Given the description of an element on the screen output the (x, y) to click on. 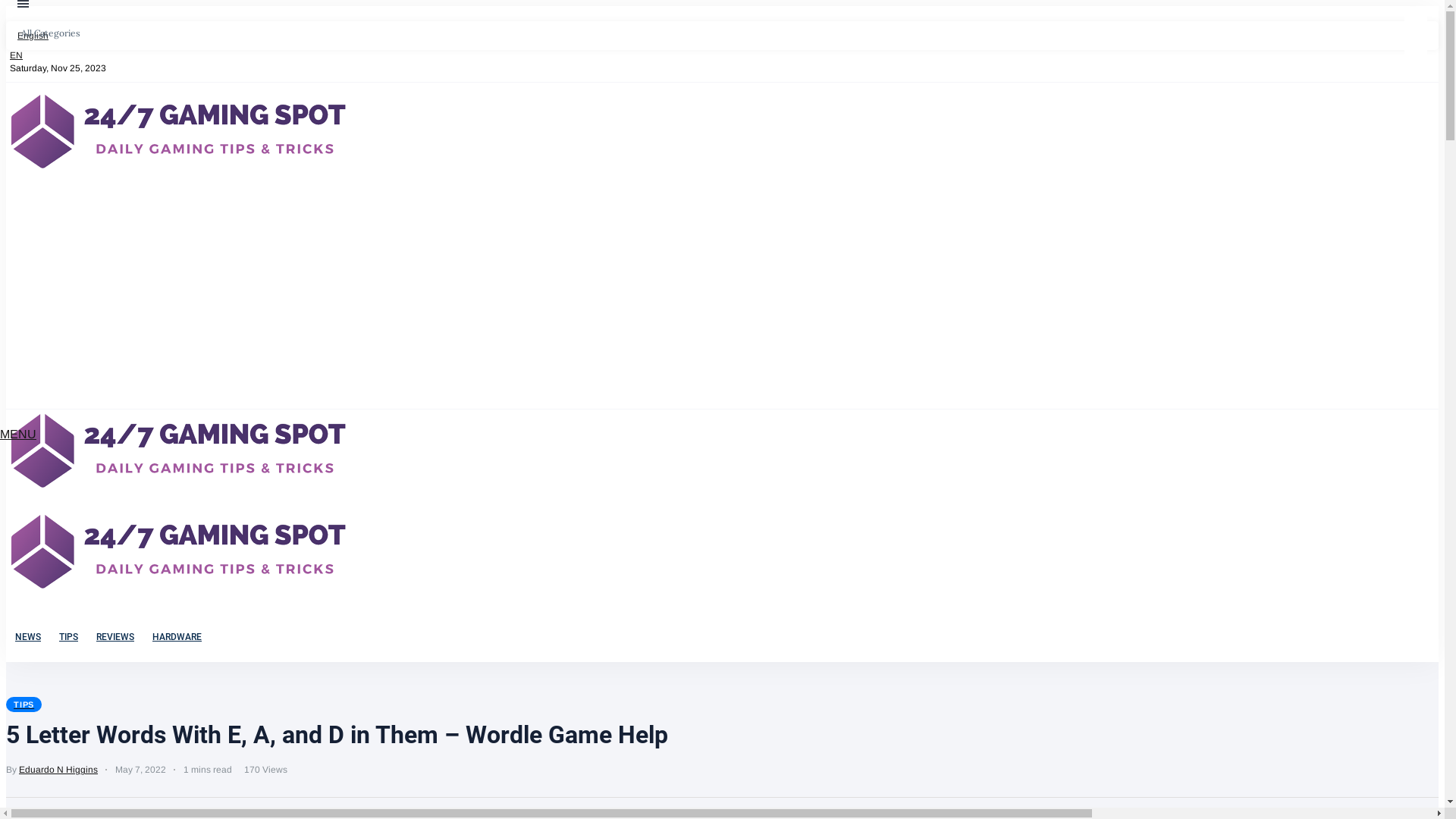
REVIEWS Element type: text (115, 636)
NEWS Element type: text (28, 636)
MENU Element type: text (18, 433)
HARDWARE Element type: text (176, 636)
English Element type: text (722, 35)
TIPS Element type: text (68, 636)
TIPS Element type: text (23, 704)
EN Element type: text (14, 55)
Advertisement Element type: hover (721, 294)
Eduardo N Higgins Element type: text (57, 769)
